Given the description of an element on the screen output the (x, y) to click on. 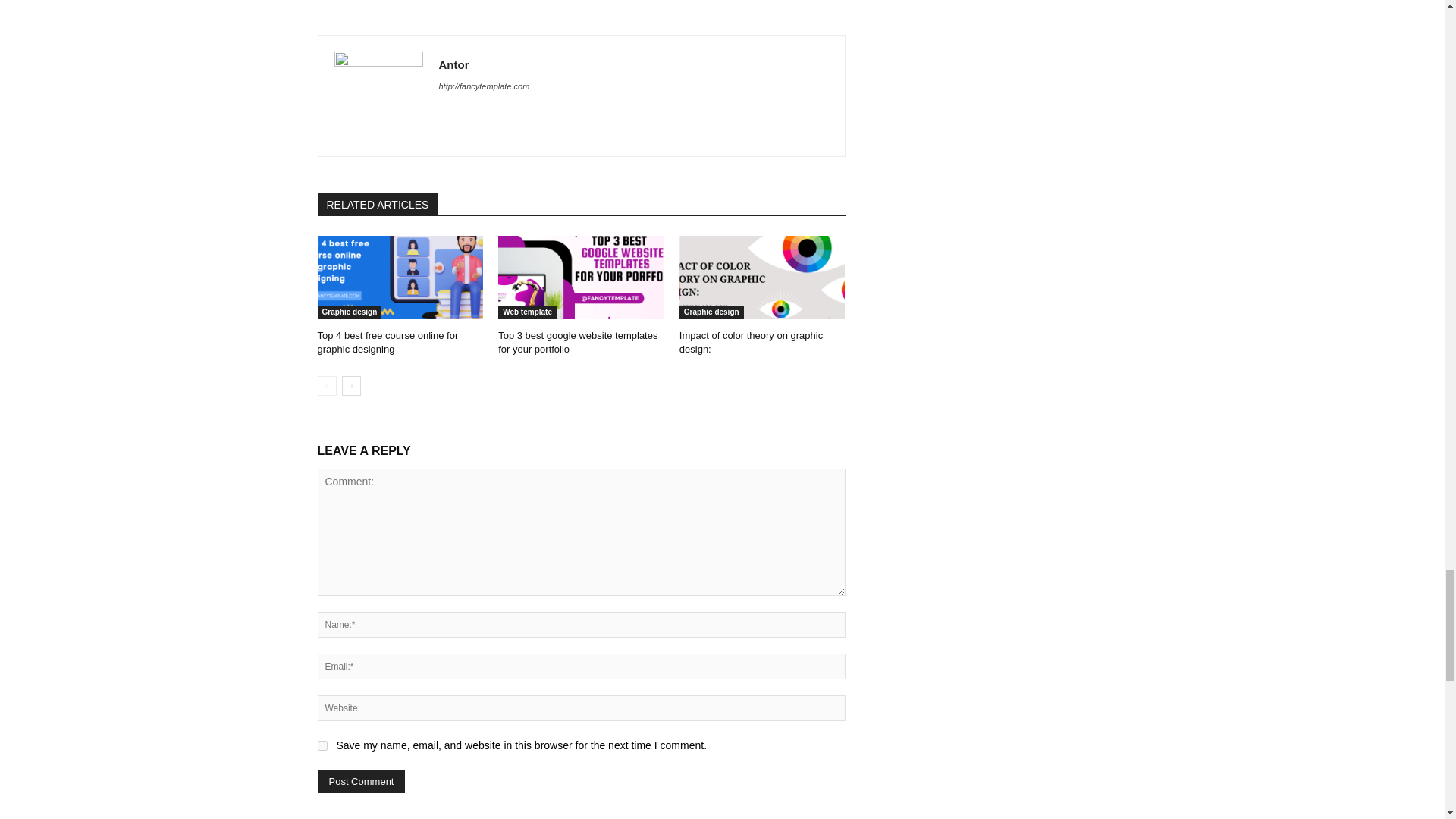
Top 3 best google website templates for your portfolio (580, 276)
Top 4 best free course online for graphic designing (387, 342)
Post Comment (360, 781)
Top 4 best free course online for graphic designing (400, 276)
Impact of color theory on graphic design: (762, 276)
Top 3 best google website templates for your portfolio (577, 342)
Impact of color theory on graphic design: (750, 342)
yes (321, 746)
